Given the description of an element on the screen output the (x, y) to click on. 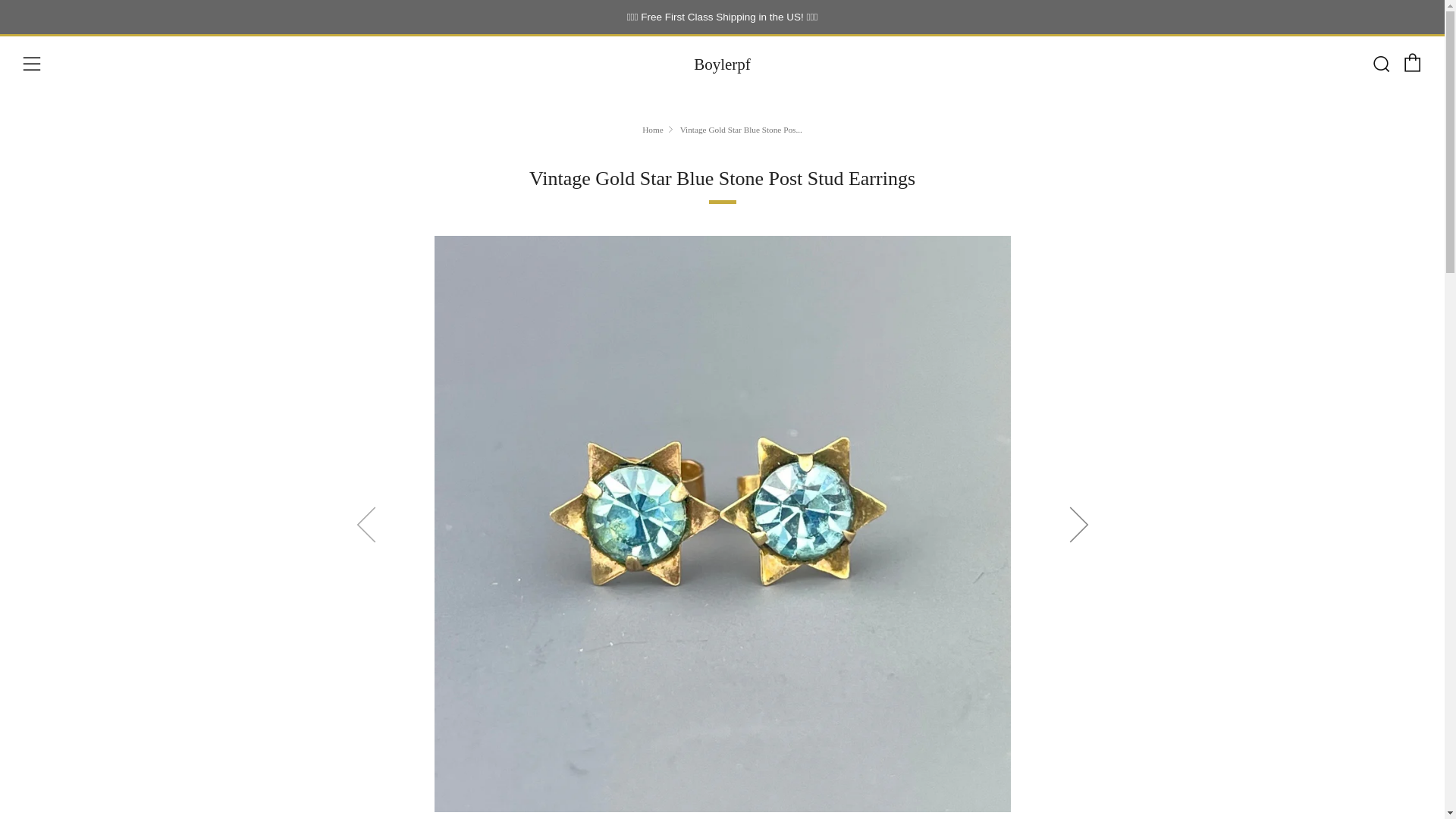
Home (652, 129)
